Given the description of an element on the screen output the (x, y) to click on. 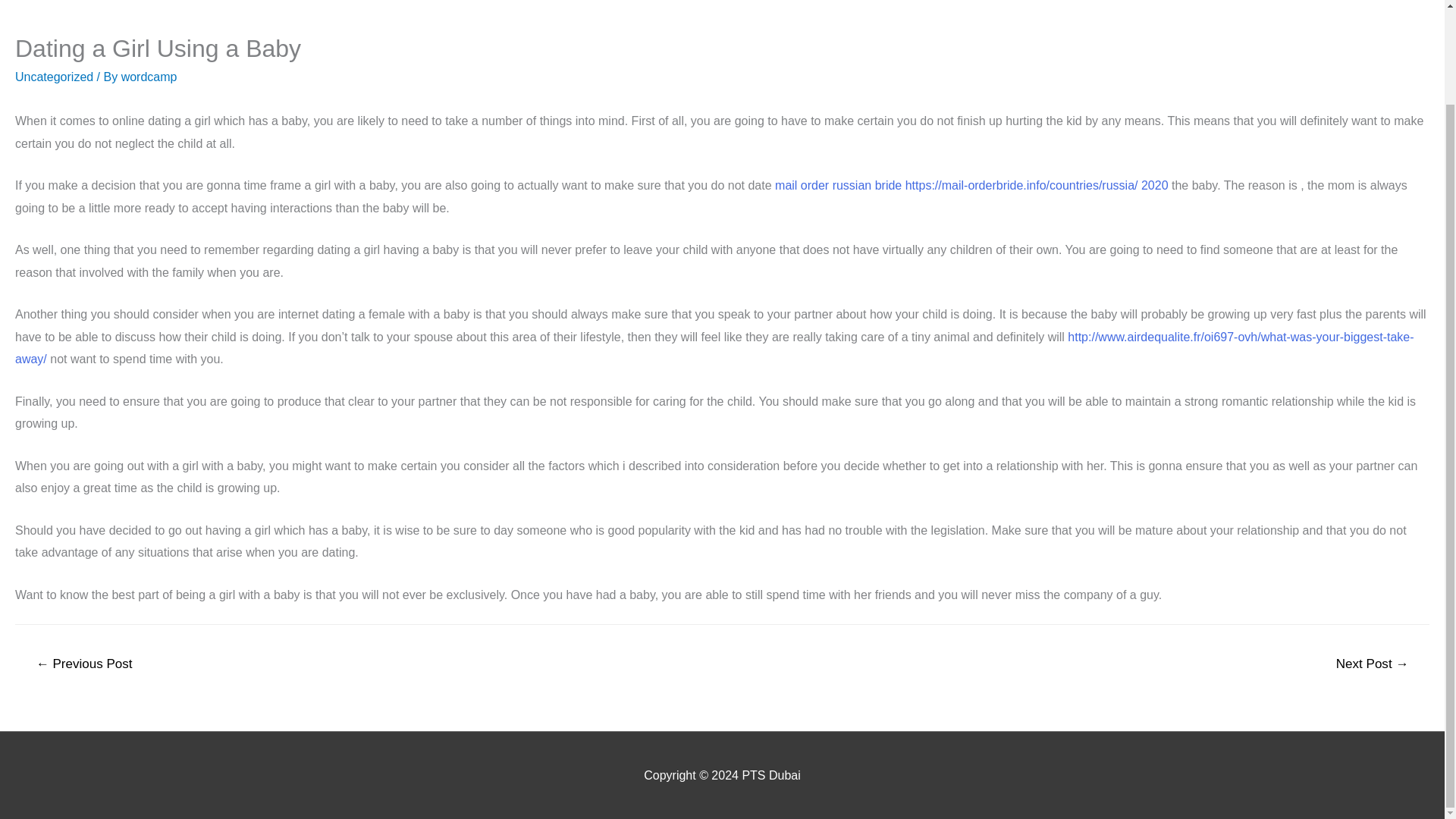
wordcamp (148, 76)
View all posts by wordcamp (148, 76)
Uncategorized (53, 76)
